Given the description of an element on the screen output the (x, y) to click on. 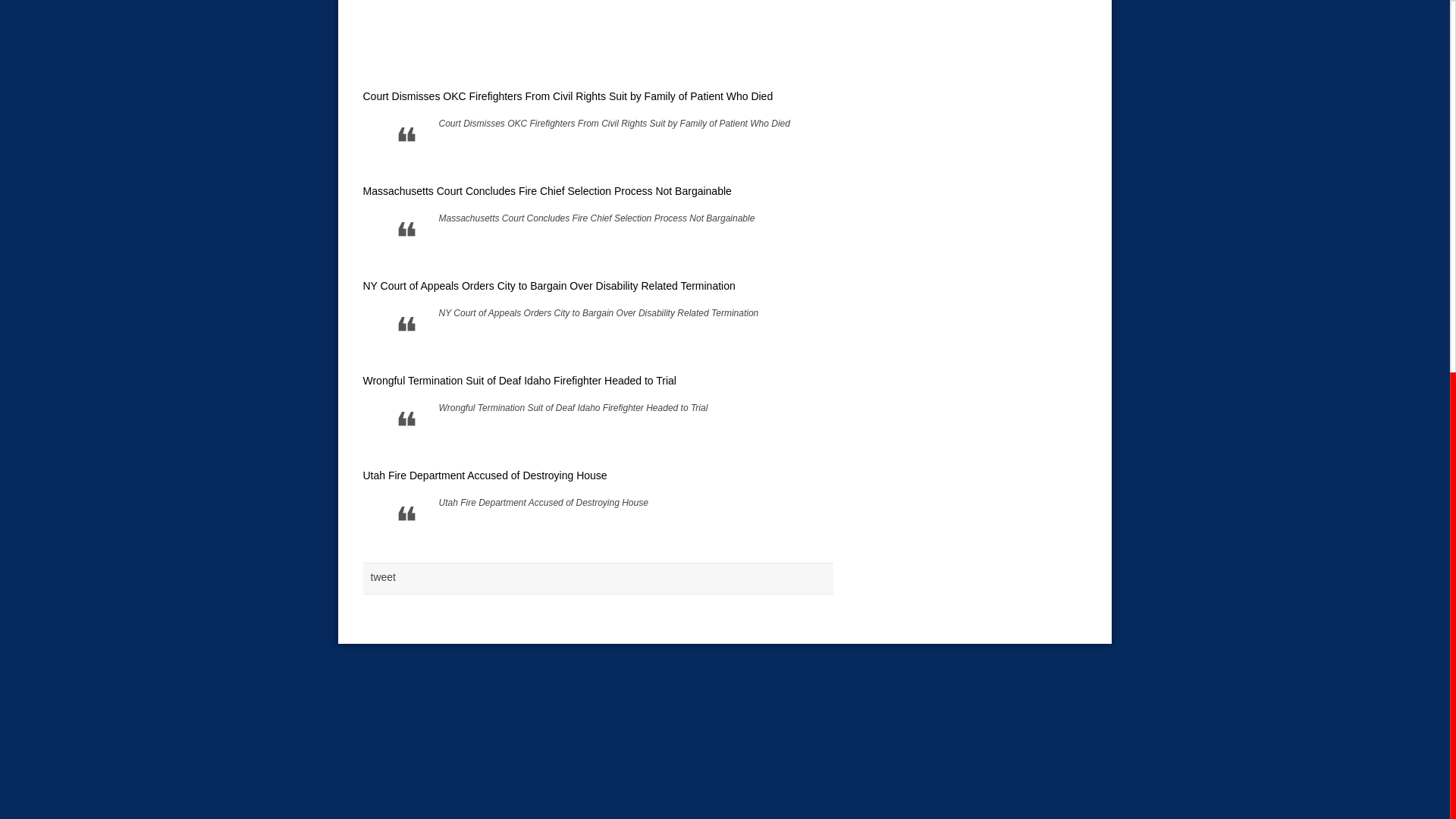
Utah Fire Department Accused of Destroying House (542, 502)
tweet (381, 576)
YouTube video player (574, 42)
